Given the description of an element on the screen output the (x, y) to click on. 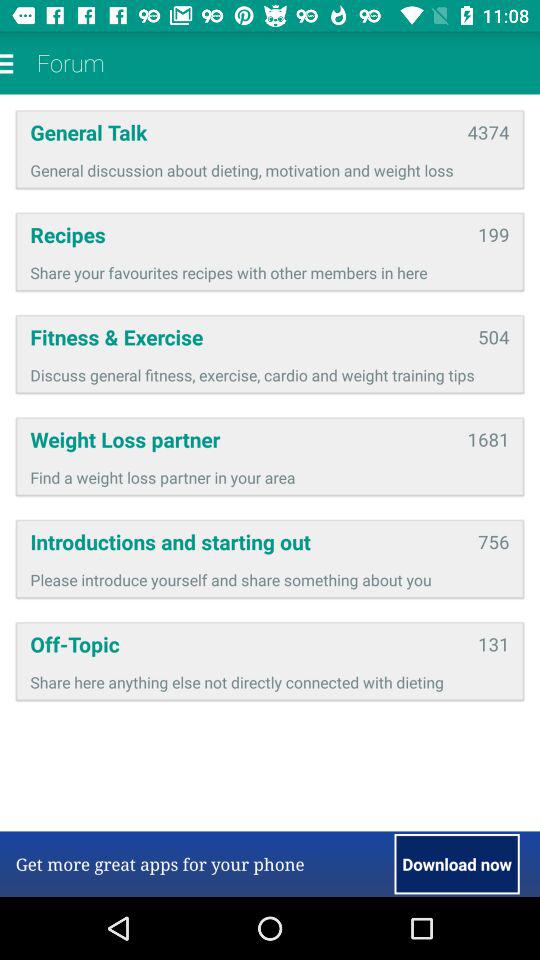
open the share your favourites icon (269, 272)
